Given the description of an element on the screen output the (x, y) to click on. 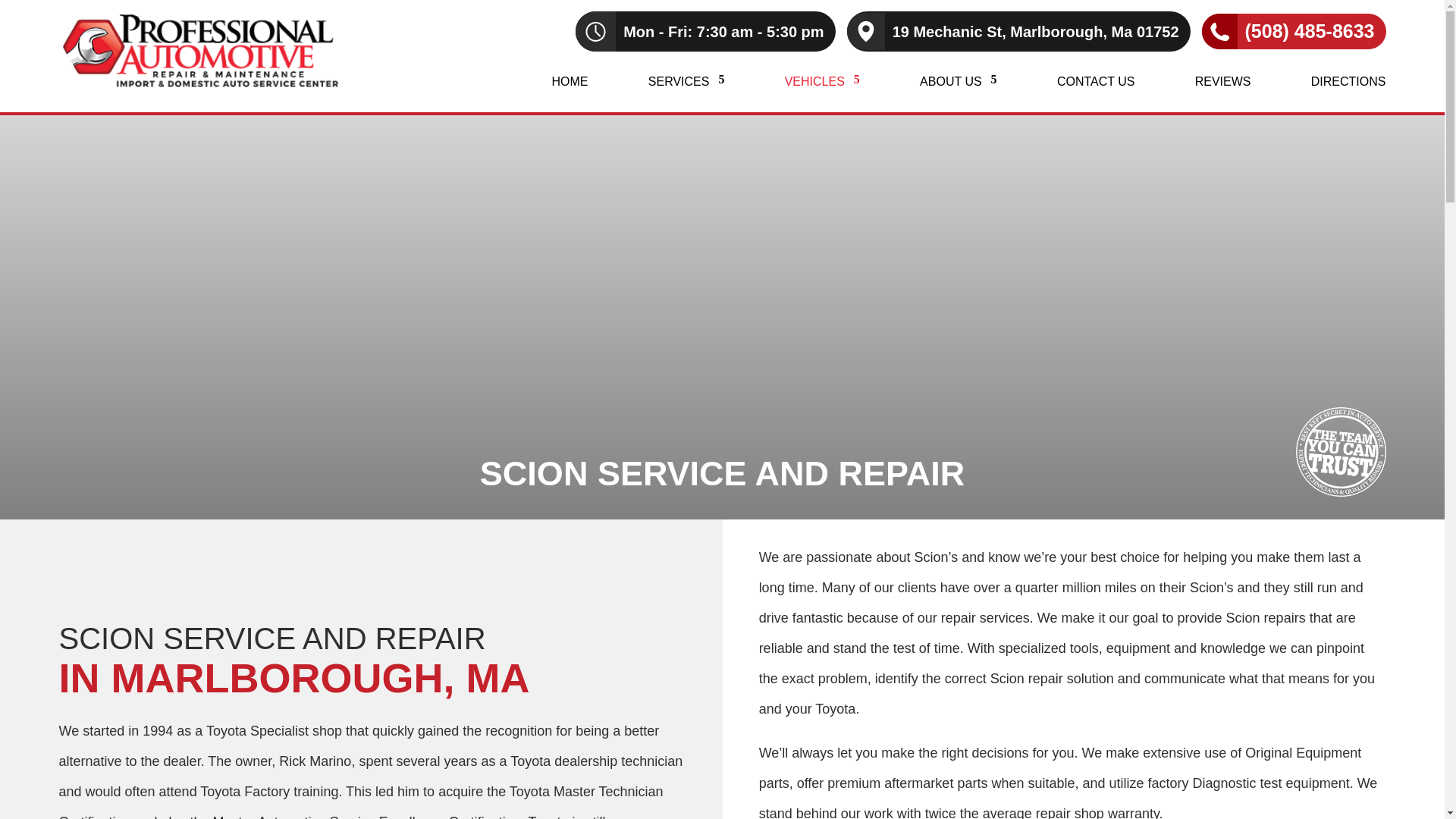
SERVICES (686, 94)
HOME (569, 94)
VEHICLES (822, 94)
